Given the description of an element on the screen output the (x, y) to click on. 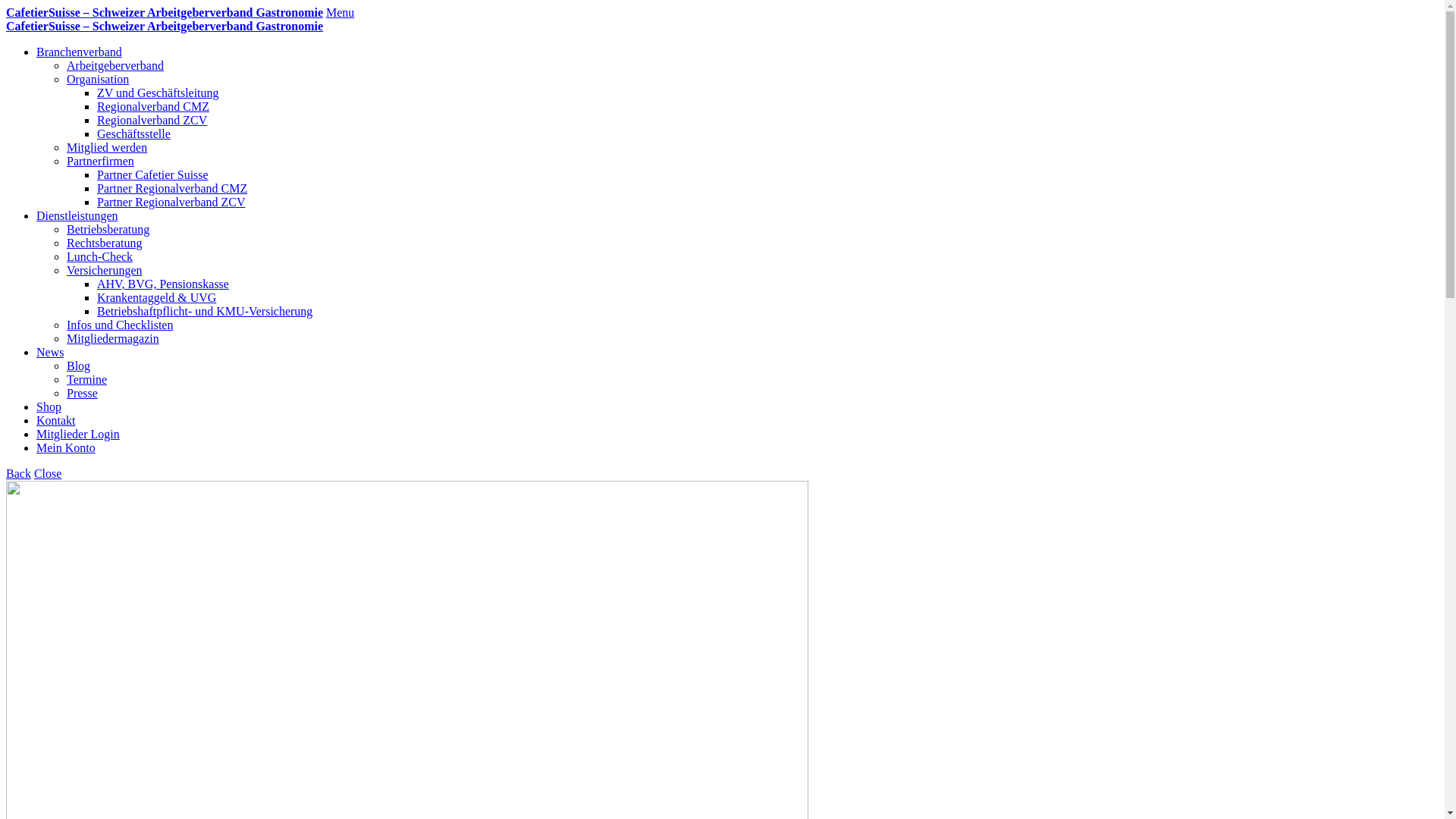
AHV, BVG, Pensionskasse Element type: text (163, 283)
Blog Element type: text (78, 365)
Betriebsberatung Element type: text (107, 228)
Lunch-Check Element type: text (99, 256)
Versicherungen Element type: text (104, 269)
Shop Element type: text (48, 406)
Branchenverband Element type: text (79, 51)
Menu Element type: text (340, 12)
Partnerfirmen Element type: text (100, 160)
Termine Element type: text (86, 379)
Back Element type: text (18, 473)
Mein Konto Element type: text (65, 447)
Mitglieder Login Element type: text (77, 433)
Rechtsberatung Element type: text (104, 242)
News Element type: text (49, 351)
Organisation Element type: text (97, 78)
Mitgliedermagazin Element type: text (112, 338)
Infos und Checklisten Element type: text (119, 324)
Arbeitgeberverband Element type: text (114, 65)
Kontakt Element type: text (55, 420)
Betriebshaftpflicht- und KMU-Versicherung Element type: text (204, 310)
Krankentaggeld & UVG Element type: text (156, 297)
Mitglied werden Element type: text (106, 147)
Presse Element type: text (81, 392)
Dienstleistungen Element type: text (77, 215)
Close Element type: text (47, 473)
